Given the description of an element on the screen output the (x, y) to click on. 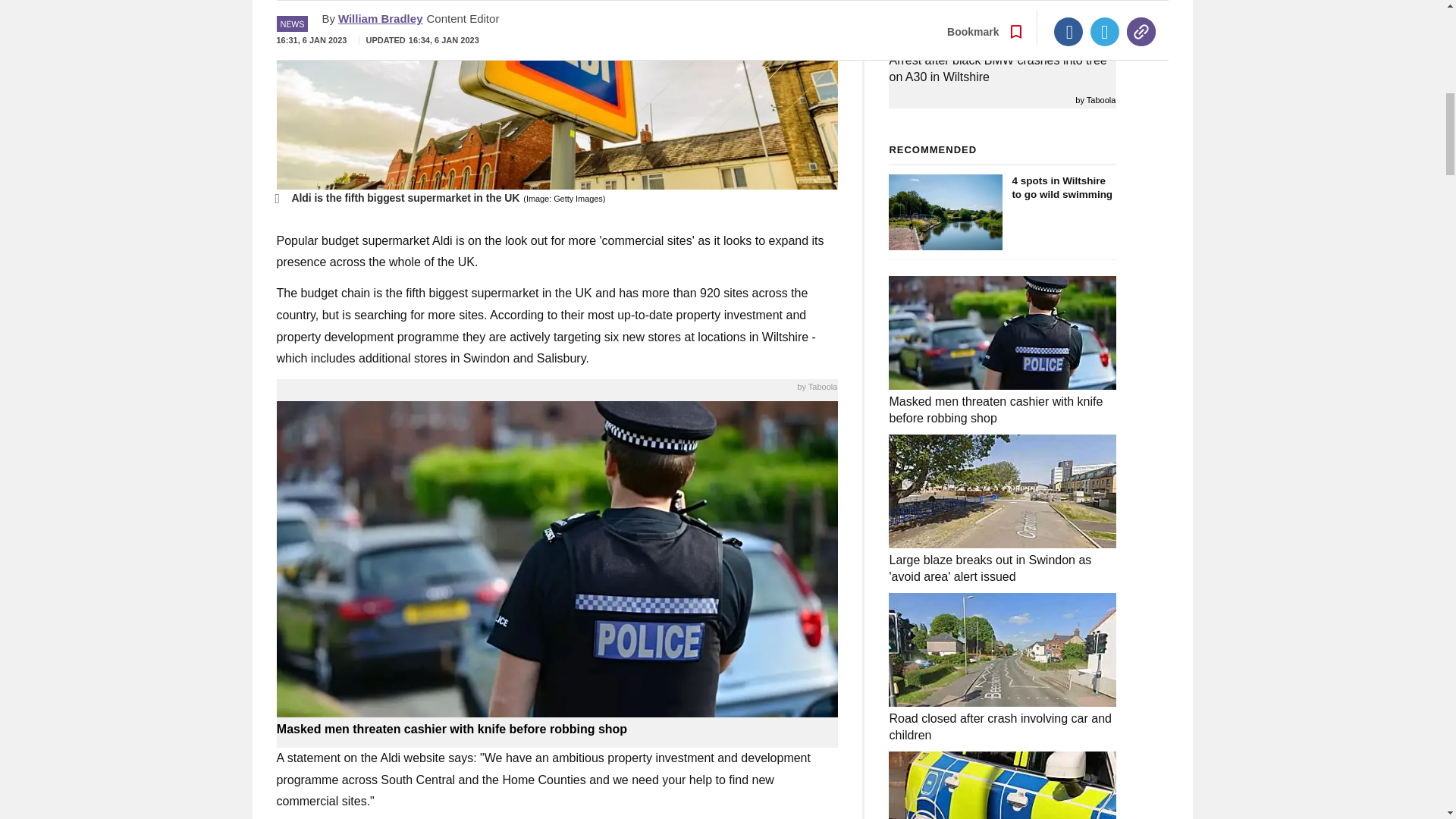
Masked men threaten cashier with knife before robbing shop (557, 729)
